Given the description of an element on the screen output the (x, y) to click on. 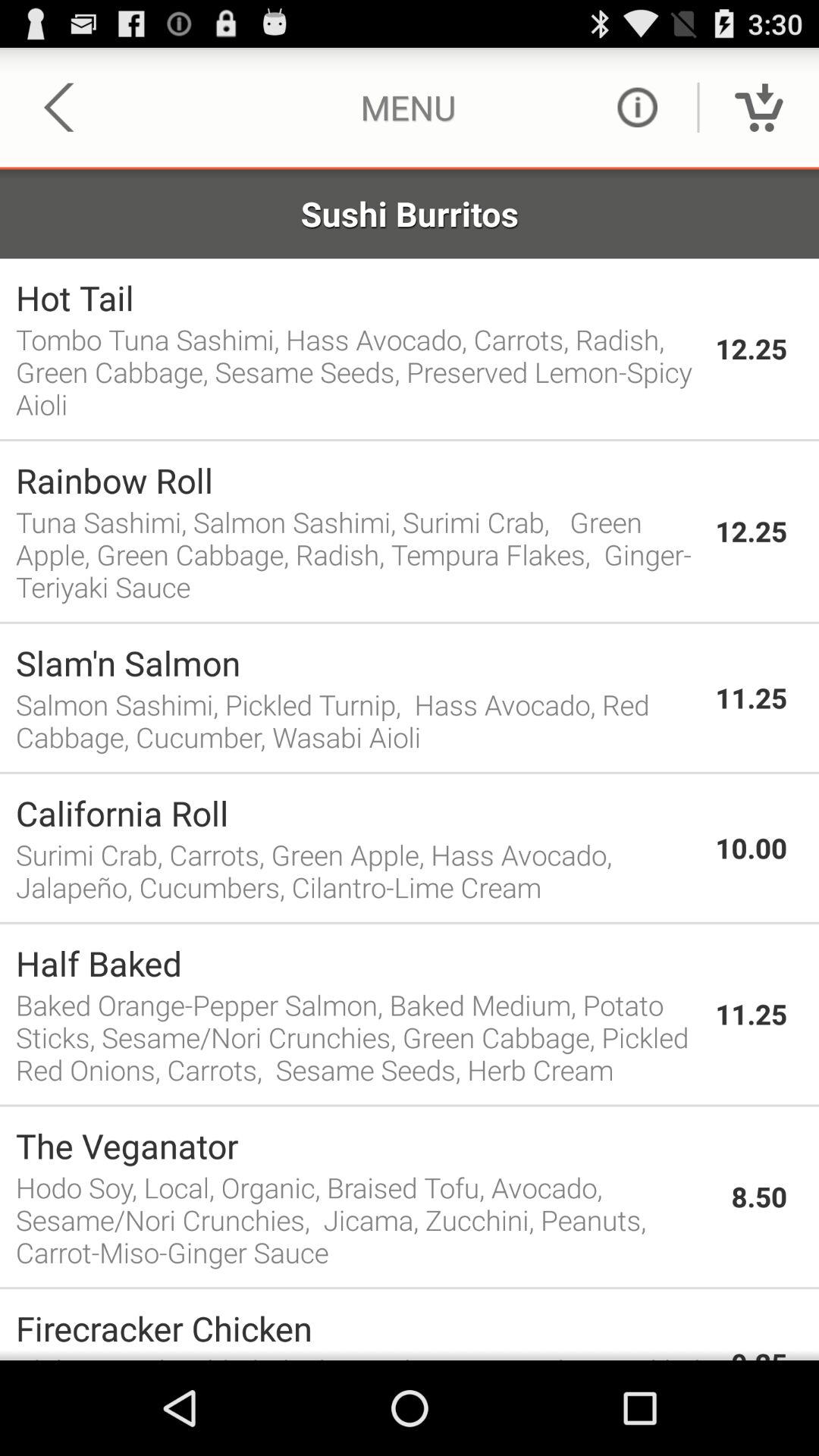
press the app to the left of 8.50 icon (365, 1219)
